Given the description of an element on the screen output the (x, y) to click on. 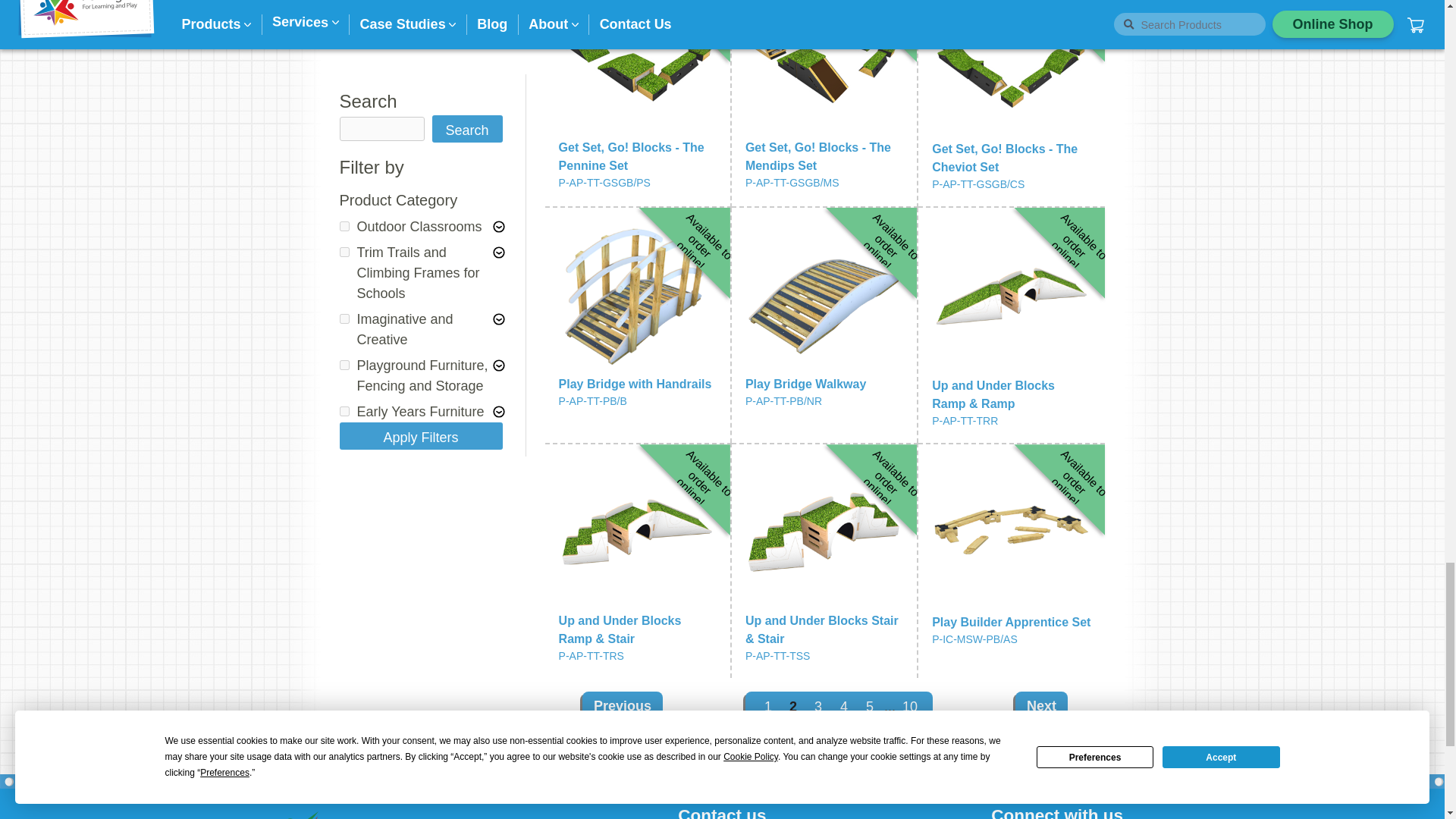
13 (344, 148)
29 (344, 307)
14 (344, 261)
17 (344, 122)
15 (344, 215)
